Given the description of an element on the screen output the (x, y) to click on. 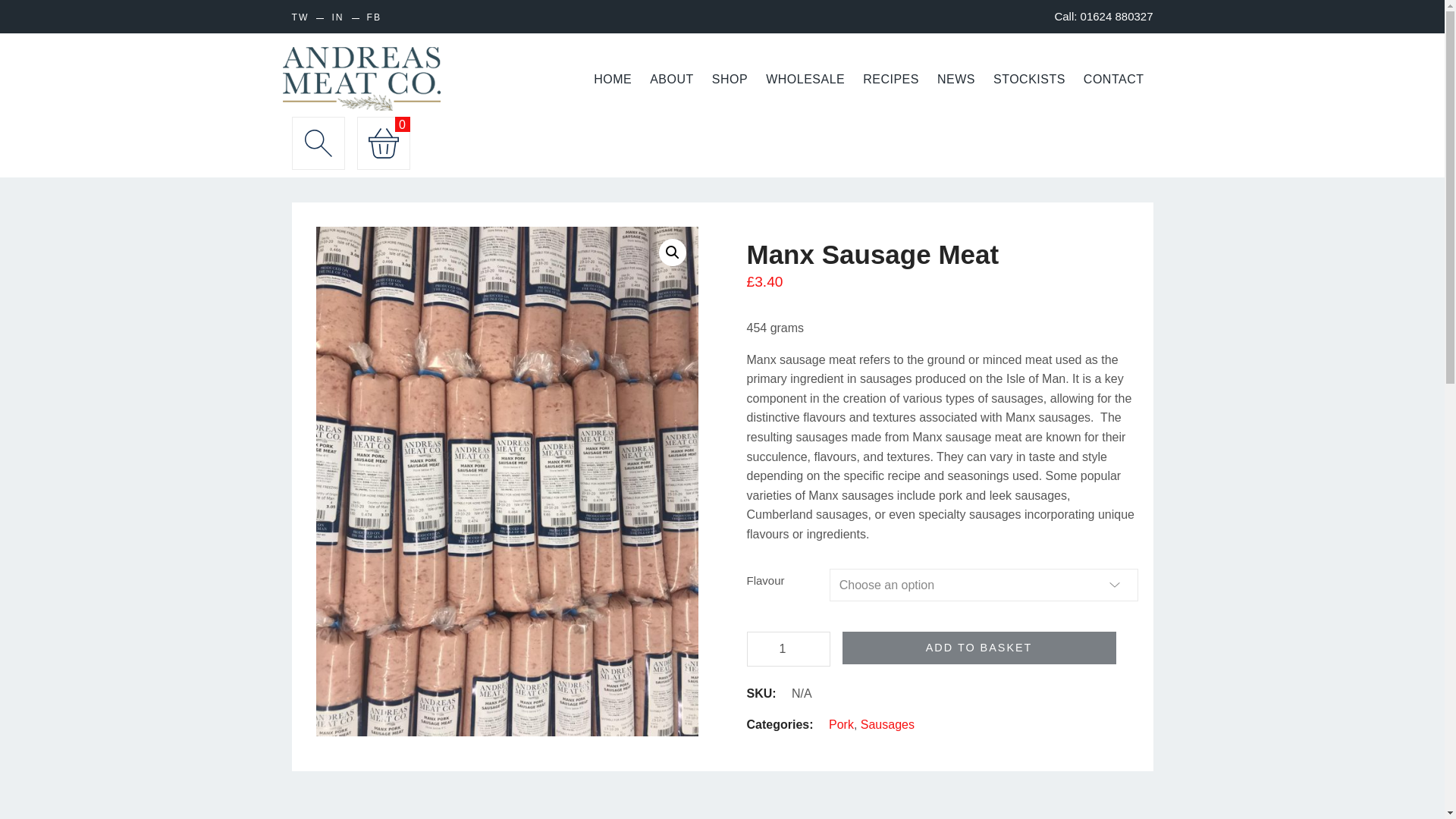
0 (382, 143)
HOME (612, 79)
TW (299, 17)
WHOLESALE (805, 79)
Andreas Meat Co (360, 78)
1 (787, 648)
NEWS (956, 79)
Call: 01624 880327 (1103, 15)
STOCKISTS (1029, 79)
IN (337, 17)
ABOUT (671, 79)
Shopping Cart (382, 143)
CONTACT (1113, 79)
RECIPES (890, 79)
